Given the description of an element on the screen output the (x, y) to click on. 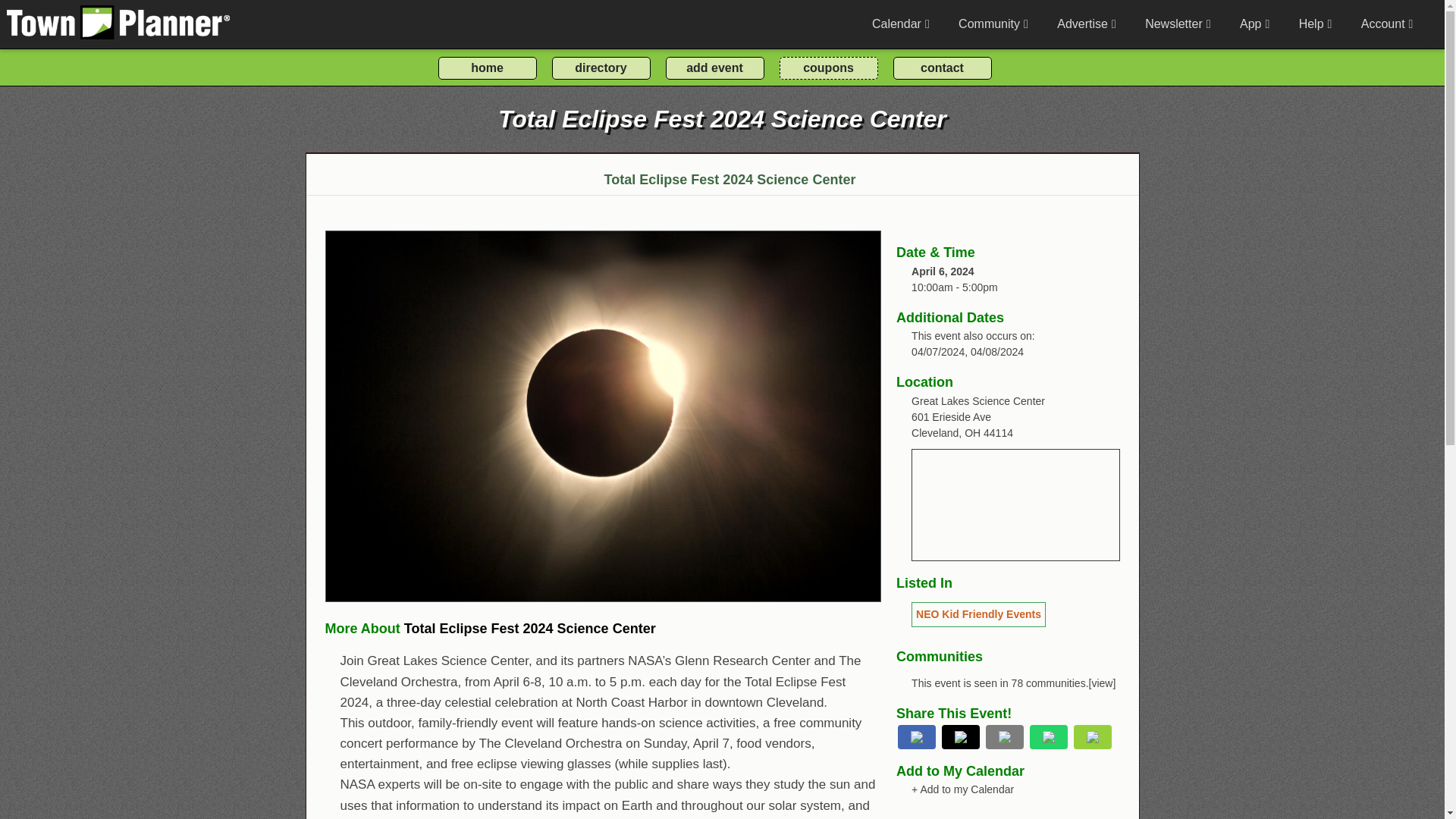
App (1254, 24)
add event (714, 67)
contact (942, 67)
directory (600, 67)
coupons (827, 67)
directory (600, 67)
Account (1386, 24)
Help (1314, 24)
Community (992, 24)
contact (942, 67)
